Given the description of an element on the screen output the (x, y) to click on. 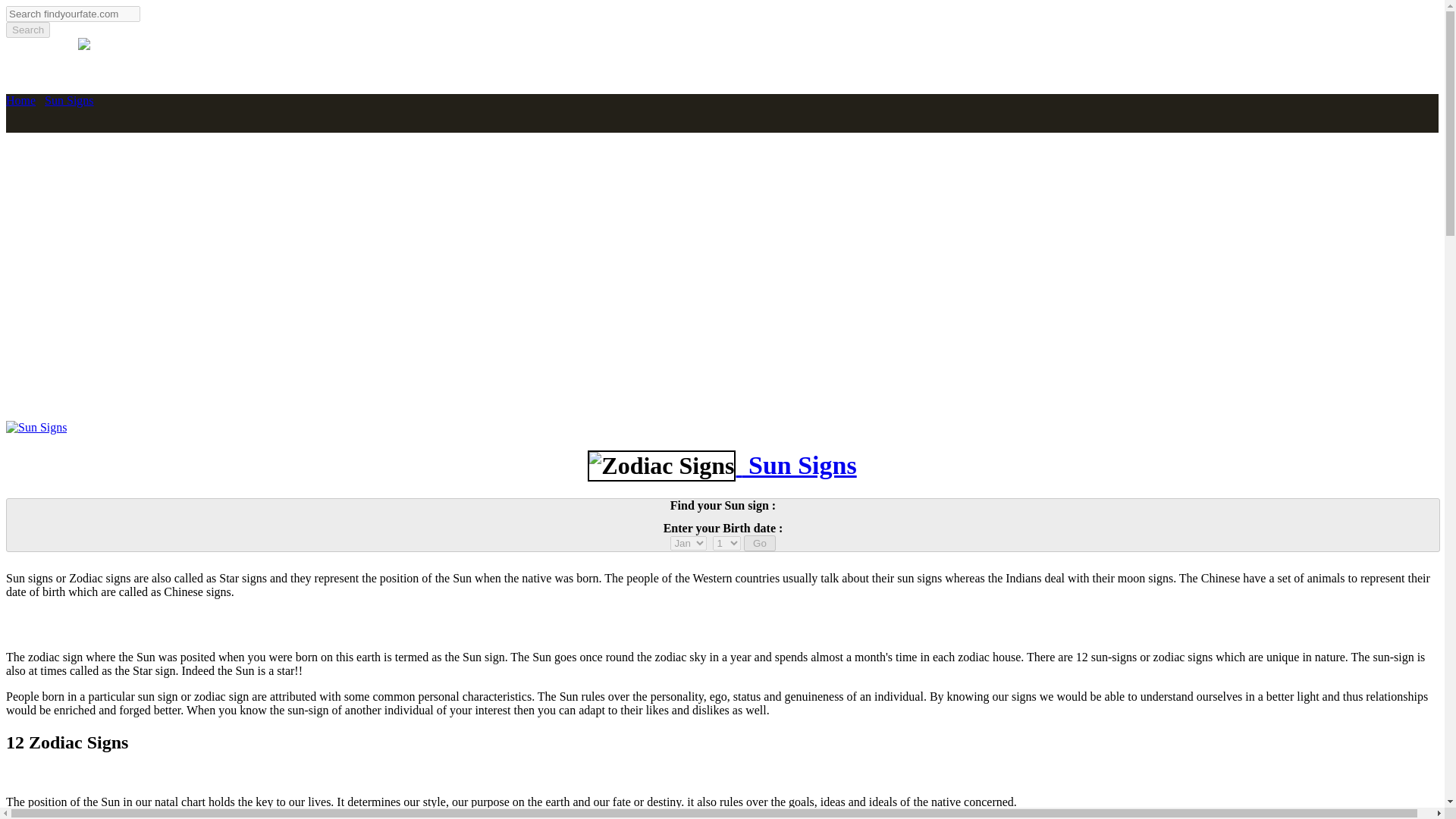
Search (27, 29)
 Go  (759, 543)
Zodiac Signs (661, 465)
Sun Signs (35, 427)
 Go  (759, 543)
Home (19, 100)
 Sun Signs (795, 465)
Search (27, 29)
Sun Signs (69, 100)
Search (27, 29)
